Given the description of an element on the screen output the (x, y) to click on. 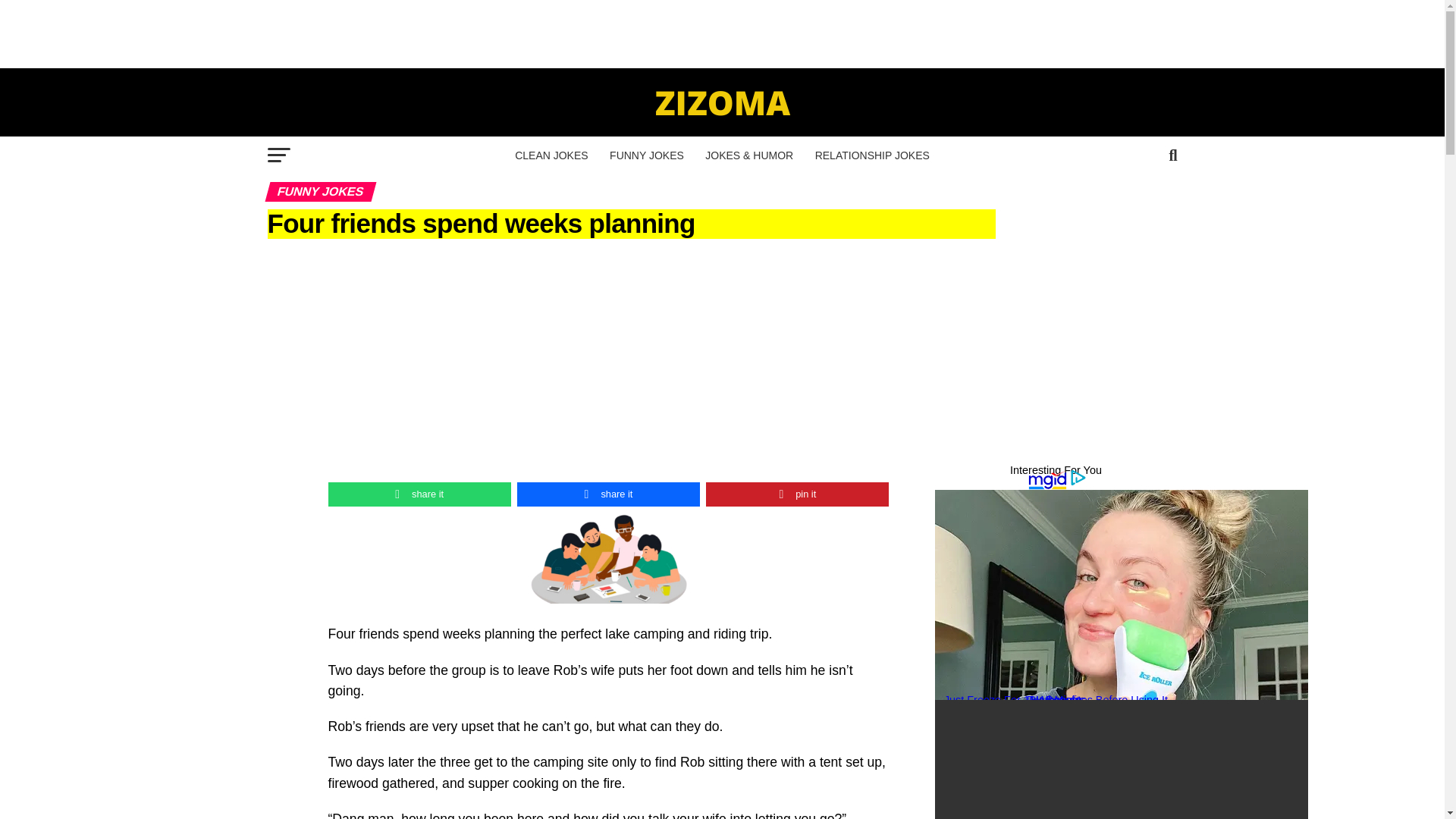
CLEAN JOKES (550, 155)
share it (608, 494)
Submit this to Pinterest (797, 494)
Share this on Facebook (608, 494)
WhatsApp (419, 494)
Advertisement (721, 33)
RELATIONSHIP JOKES (872, 155)
pin it (797, 494)
share it (419, 494)
